Given the description of an element on the screen output the (x, y) to click on. 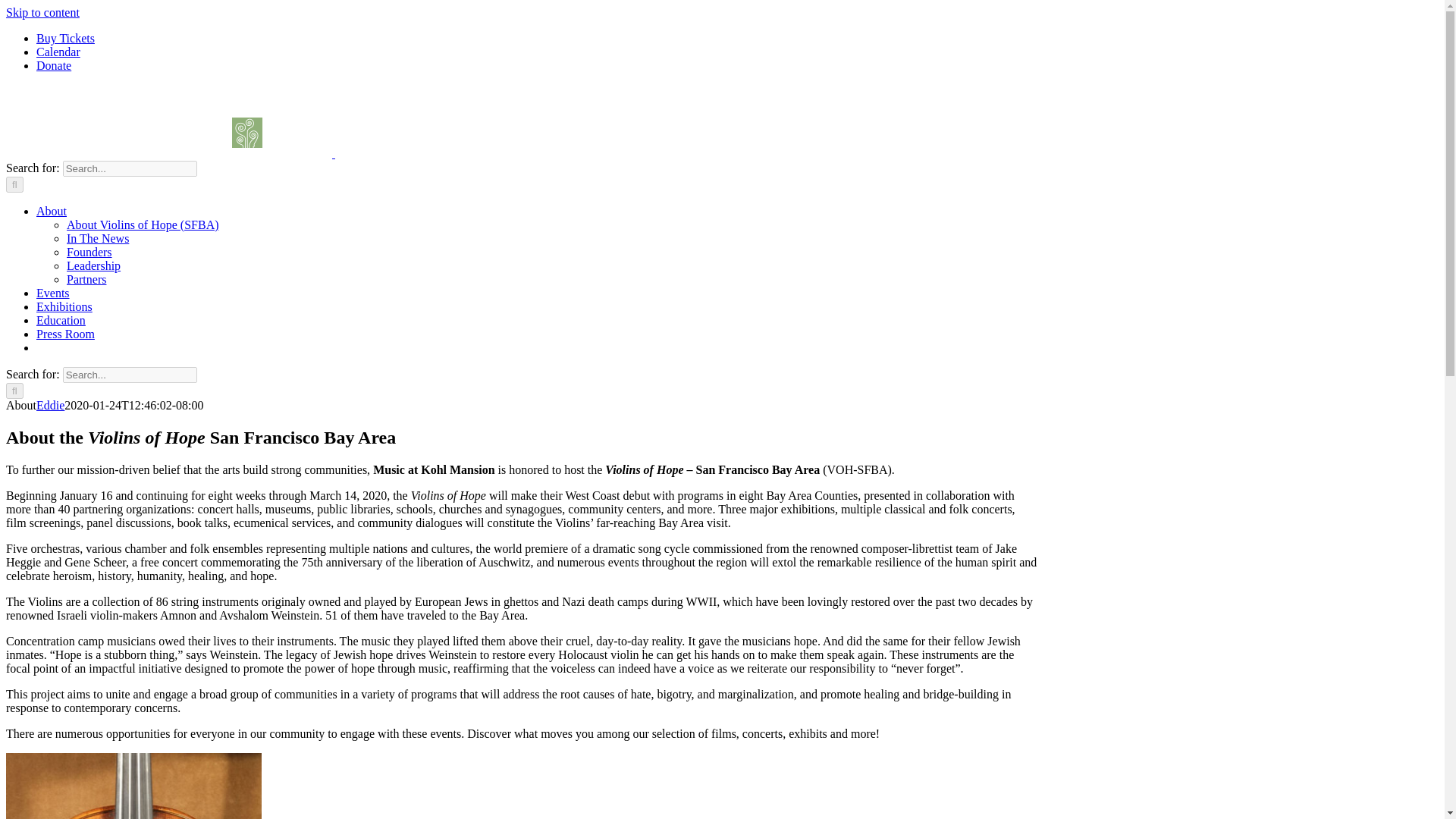
Press Room (65, 333)
Exhibitions (64, 306)
In The News (97, 237)
Education (60, 319)
Partners (86, 278)
Founders (89, 251)
Posts by Eddie (50, 404)
Buy Tickets (65, 38)
Donate (53, 65)
Skip to content (42, 11)
